Given the description of an element on the screen output the (x, y) to click on. 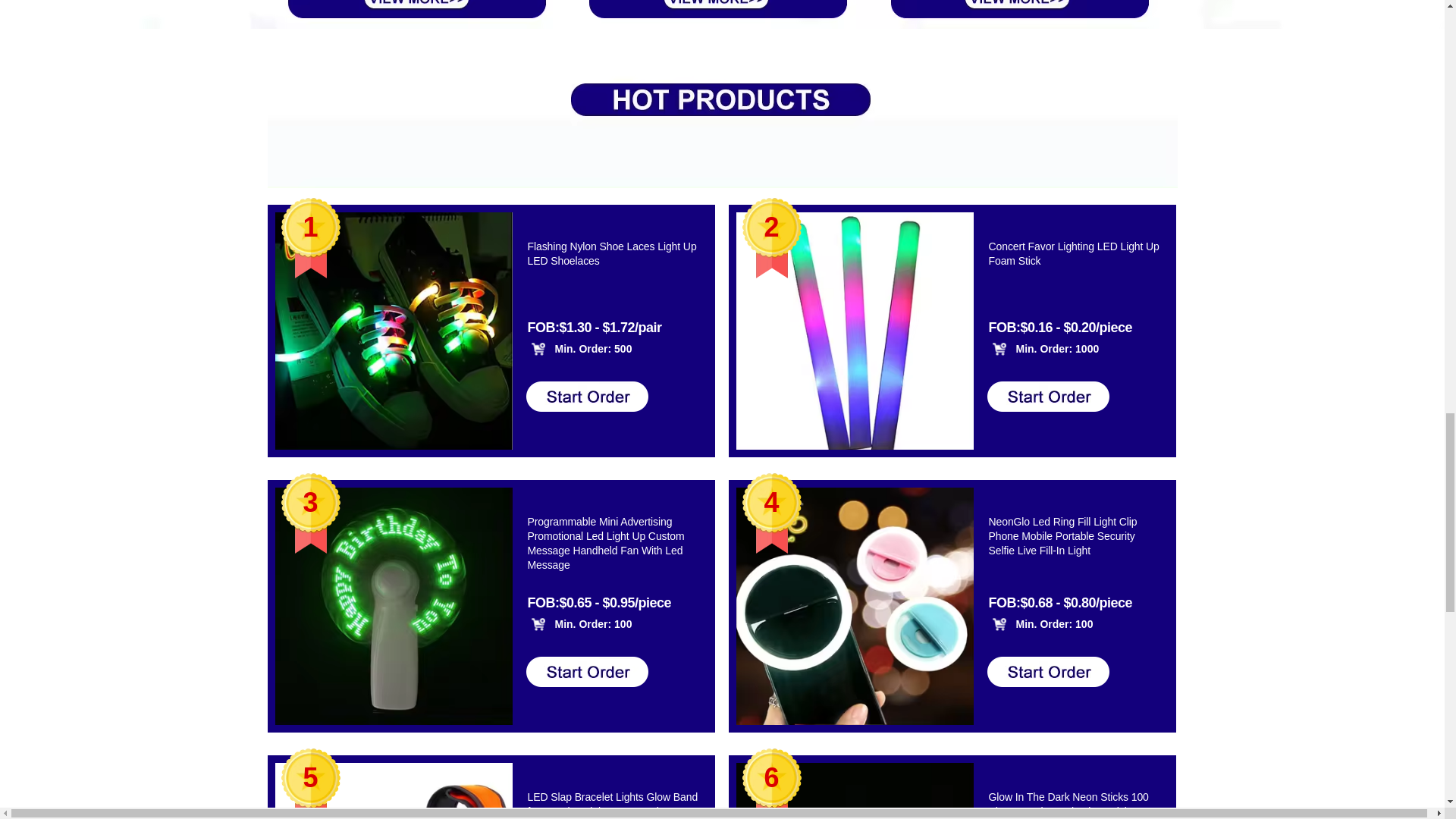
Flashing Nylon Shoe Laces Light Up LED Shoelaces (614, 268)
Concert Favor Lighting LED Light Up Foam Stick (1075, 268)
